Given the description of an element on the screen output the (x, y) to click on. 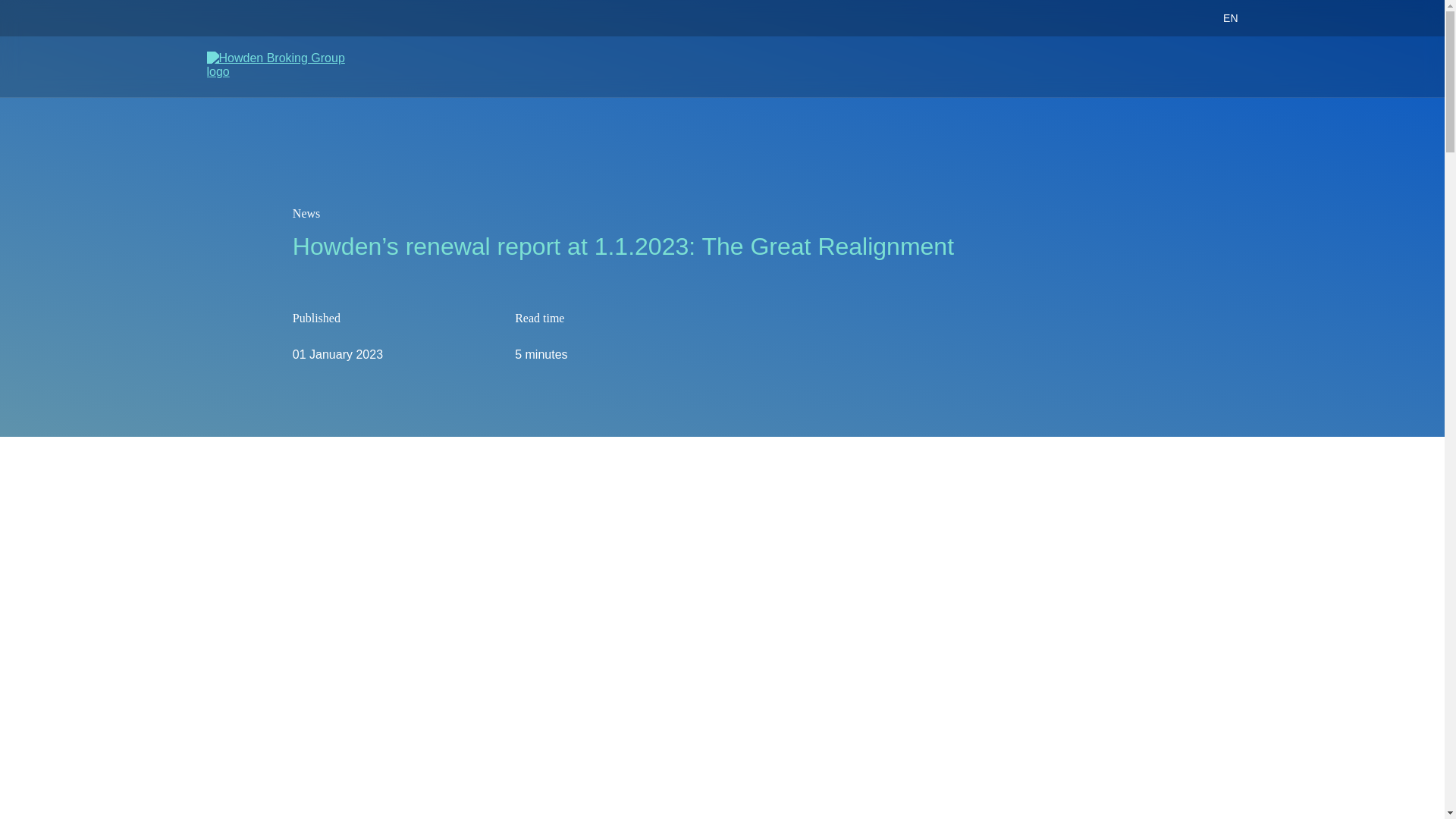
EN (1211, 18)
Howden Broking Group (276, 66)
